Given the description of an element on the screen output the (x, y) to click on. 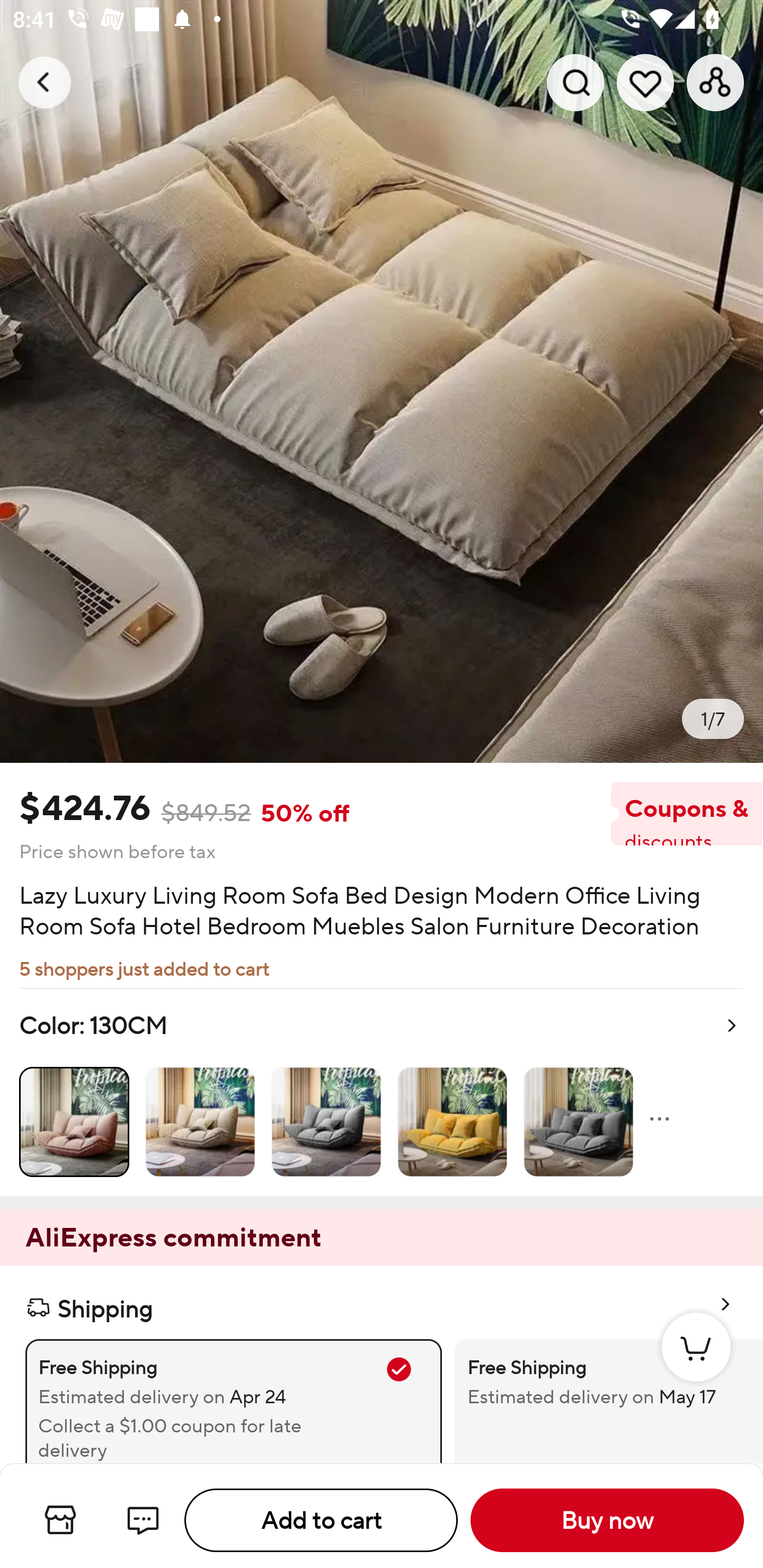
Navigate up (44, 82)
Color: 130CM  (381, 1092)
Free Shipping  Estimated delivery on May 17  (595, 1400)
Add to cart (320, 1520)
Buy now (606, 1520)
